Given the description of an element on the screen output the (x, y) to click on. 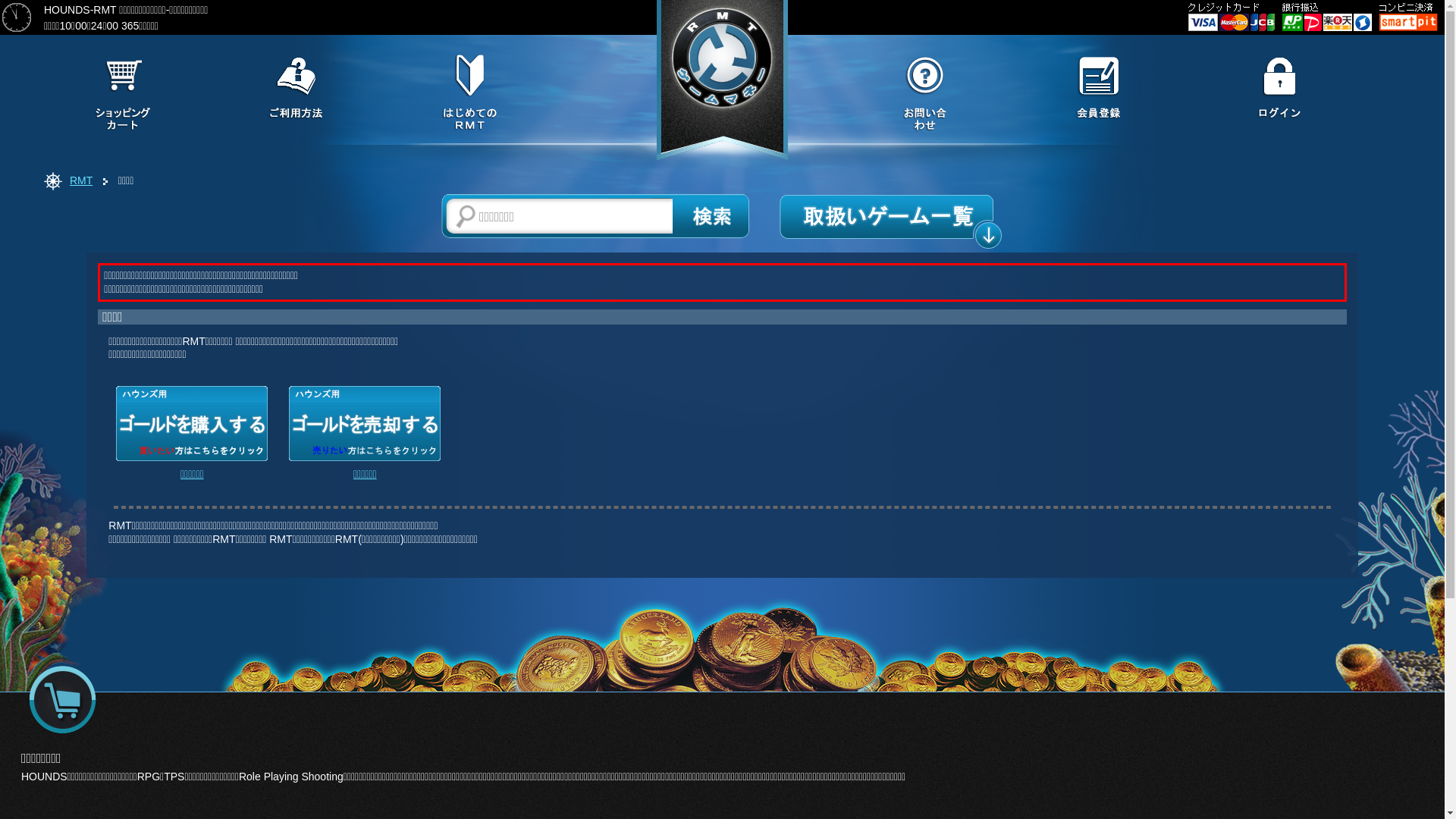
RMT Element type: text (80, 180)
